Given the description of an element on the screen output the (x, y) to click on. 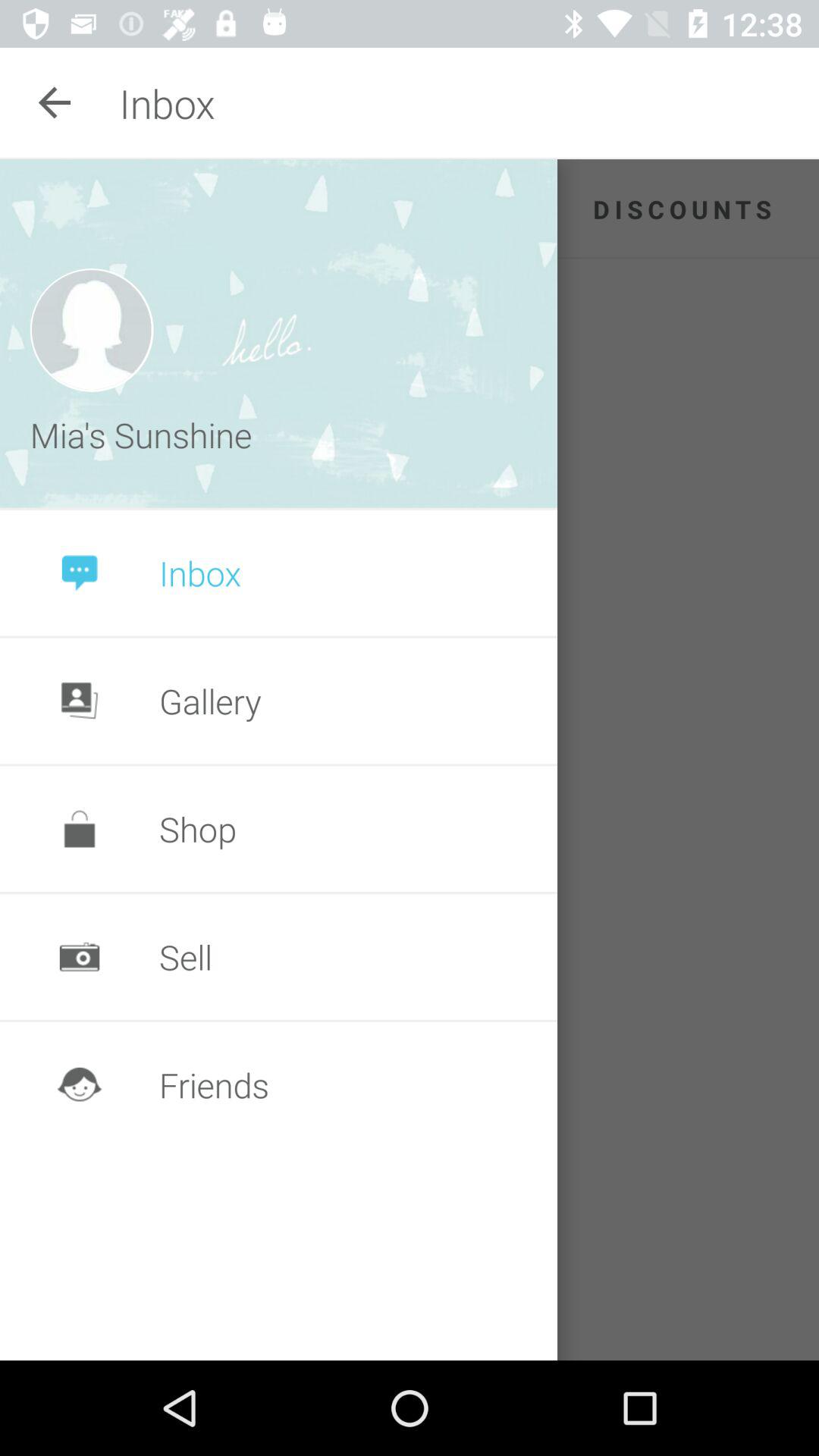
flip until mia's sunshine (145, 434)
